Given the description of an element on the screen output the (x, y) to click on. 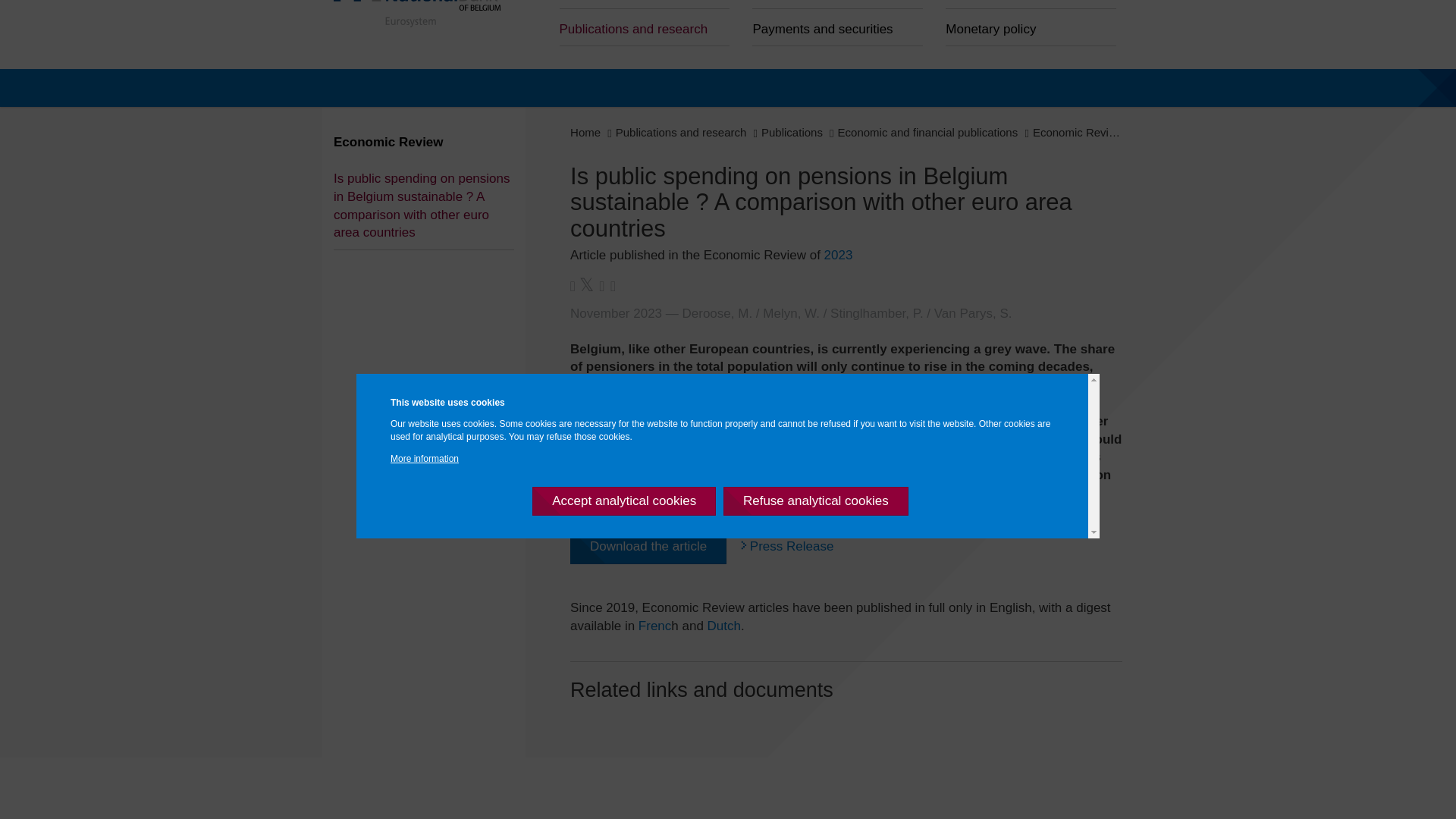
Publications and research (638, 27)
Stinglhamber, P. (871, 313)
Publications and research (675, 132)
Download the article (642, 546)
Economic and financial publications (921, 132)
Central Balance Sheet Office (638, 4)
Home (411, 13)
Monetary policy (1025, 27)
Economic Review (1071, 132)
